Given the description of an element on the screen output the (x, y) to click on. 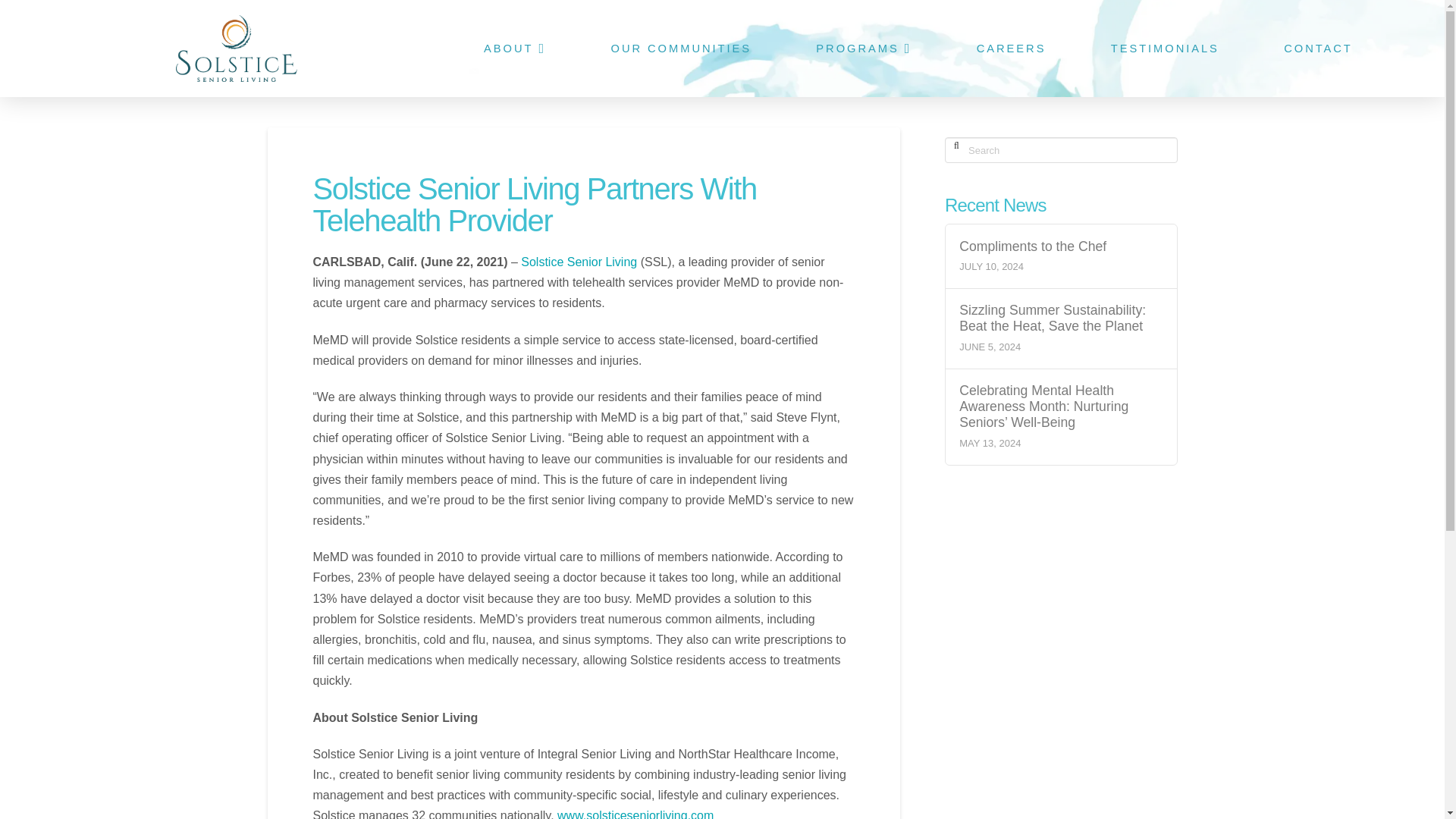
Compliments to the Chef  (1060, 246)
CAREERS (1010, 48)
PROGRAMS (863, 48)
OUR COMMUNITIES (679, 48)
CONTACT (1316, 48)
ABOUT (512, 48)
Solstice Senior Living (579, 261)
TESTIMONIALS (1163, 48)
www.solsticeseniorliving.com (635, 814)
